Given the description of an element on the screen output the (x, y) to click on. 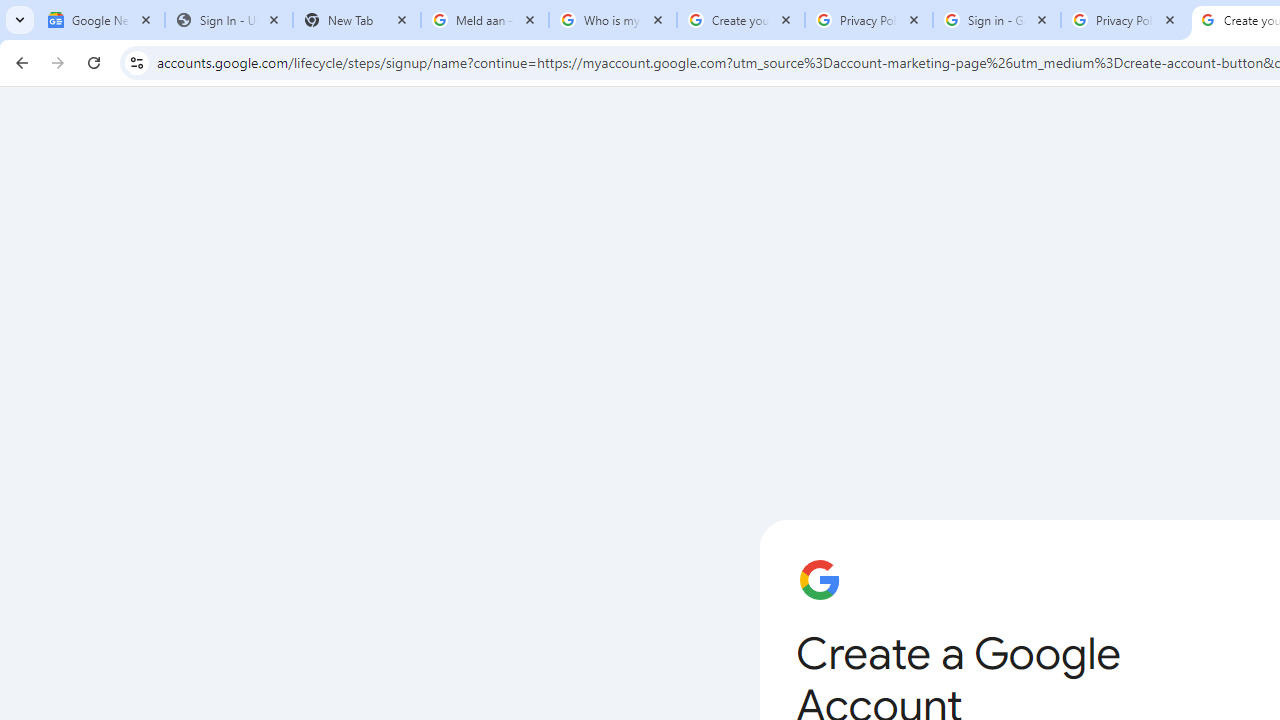
Back (19, 62)
Sign in - Google Accounts (997, 20)
Forward (57, 62)
New Tab (357, 20)
Create your Google Account (741, 20)
Reload (93, 62)
Close (1169, 19)
Sign In - USA TODAY (229, 20)
Google News (101, 20)
System (10, 11)
View site information (136, 62)
Who is my administrator? - Google Account Help (613, 20)
System (10, 11)
